Given the description of an element on the screen output the (x, y) to click on. 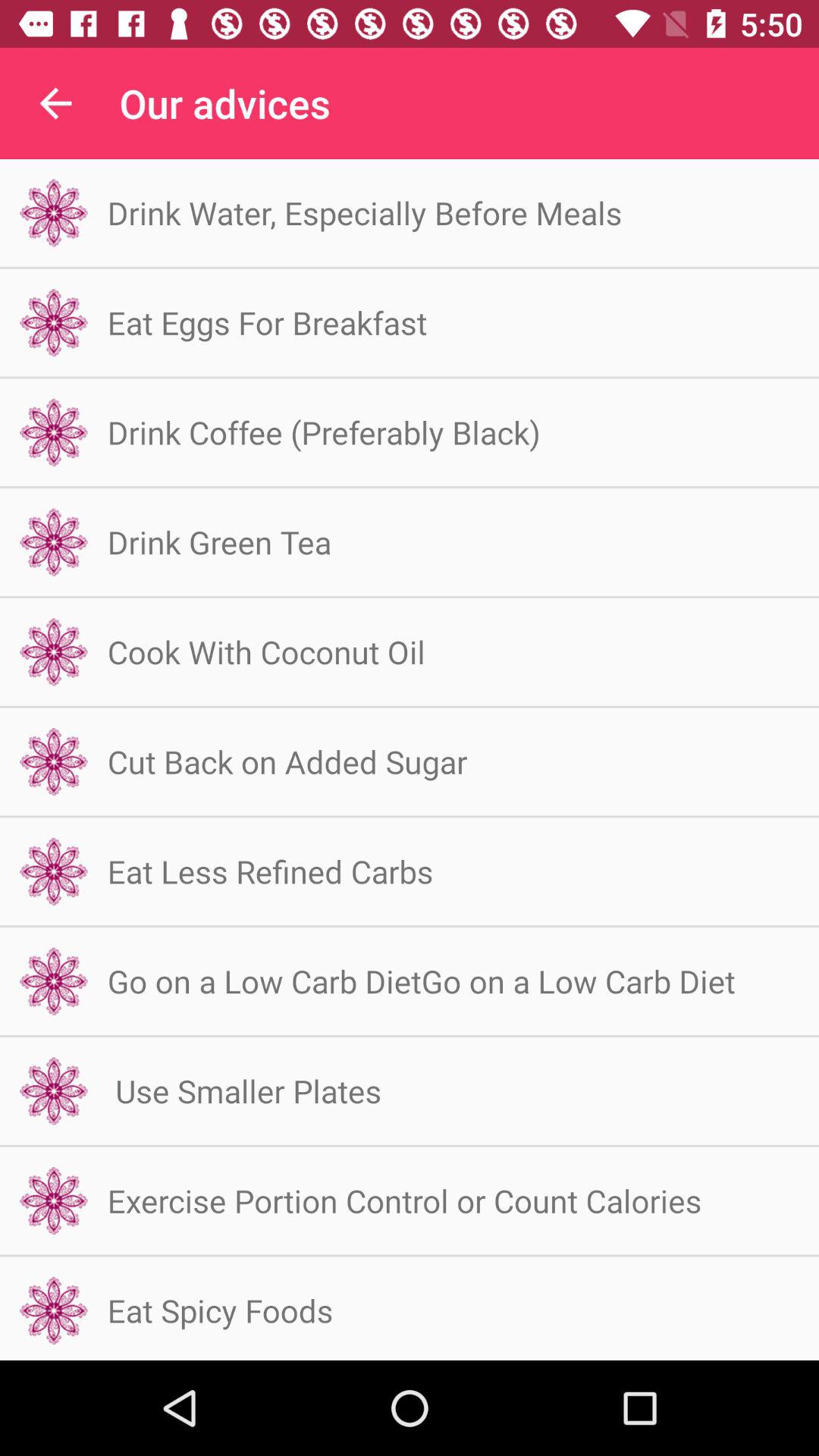
launch item below the cut back on item (270, 870)
